Given the description of an element on the screen output the (x, y) to click on. 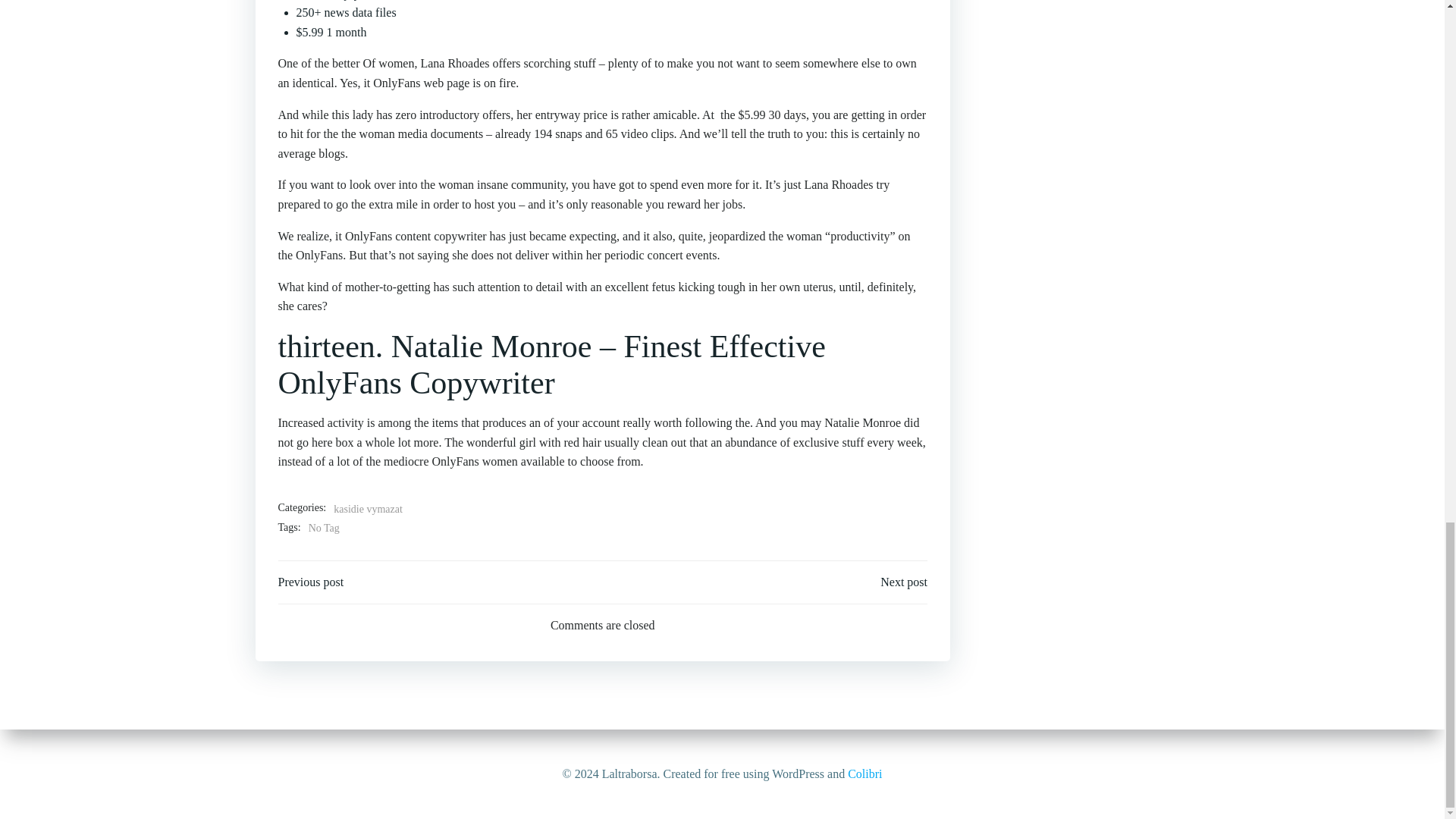
kasidie vymazat (368, 509)
Next post (903, 582)
Previous post (310, 582)
